Given the description of an element on the screen output the (x, y) to click on. 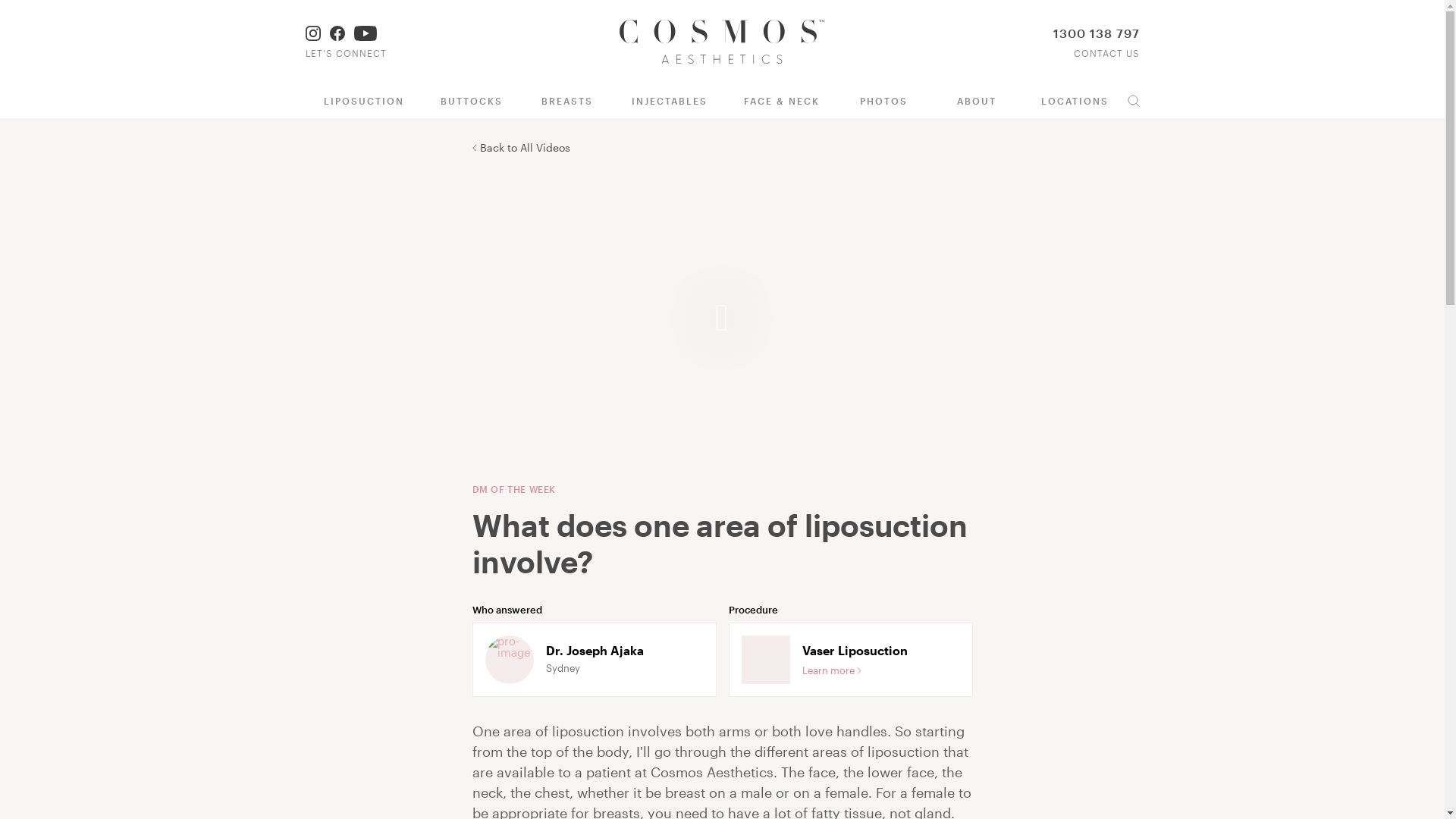
PHOTOS Element type: text (883, 101)
CONTACT US Element type: text (1106, 52)
INJECTABLES Element type: text (669, 101)
BUTTOCKS Element type: text (470, 101)
LIPOSUCTION Element type: text (362, 101)
Play video "WHAT DOES ONE AREA OF LIPO INVOLVE?" Element type: hover (721, 317)
Back to All Videos Element type: text (520, 147)
FACE & NECK Element type: text (781, 101)
ABOUT Element type: text (976, 101)
LOCATIONS Element type: text (1074, 101)
1300 138 797 Element type: text (1095, 32)
Vaser Liposuction
Learn more Element type: text (850, 659)
Dr. Joseph Ajaka
Sydney Element type: text (593, 659)
BREASTS Element type: text (566, 101)
